Given the description of an element on the screen output the (x, y) to click on. 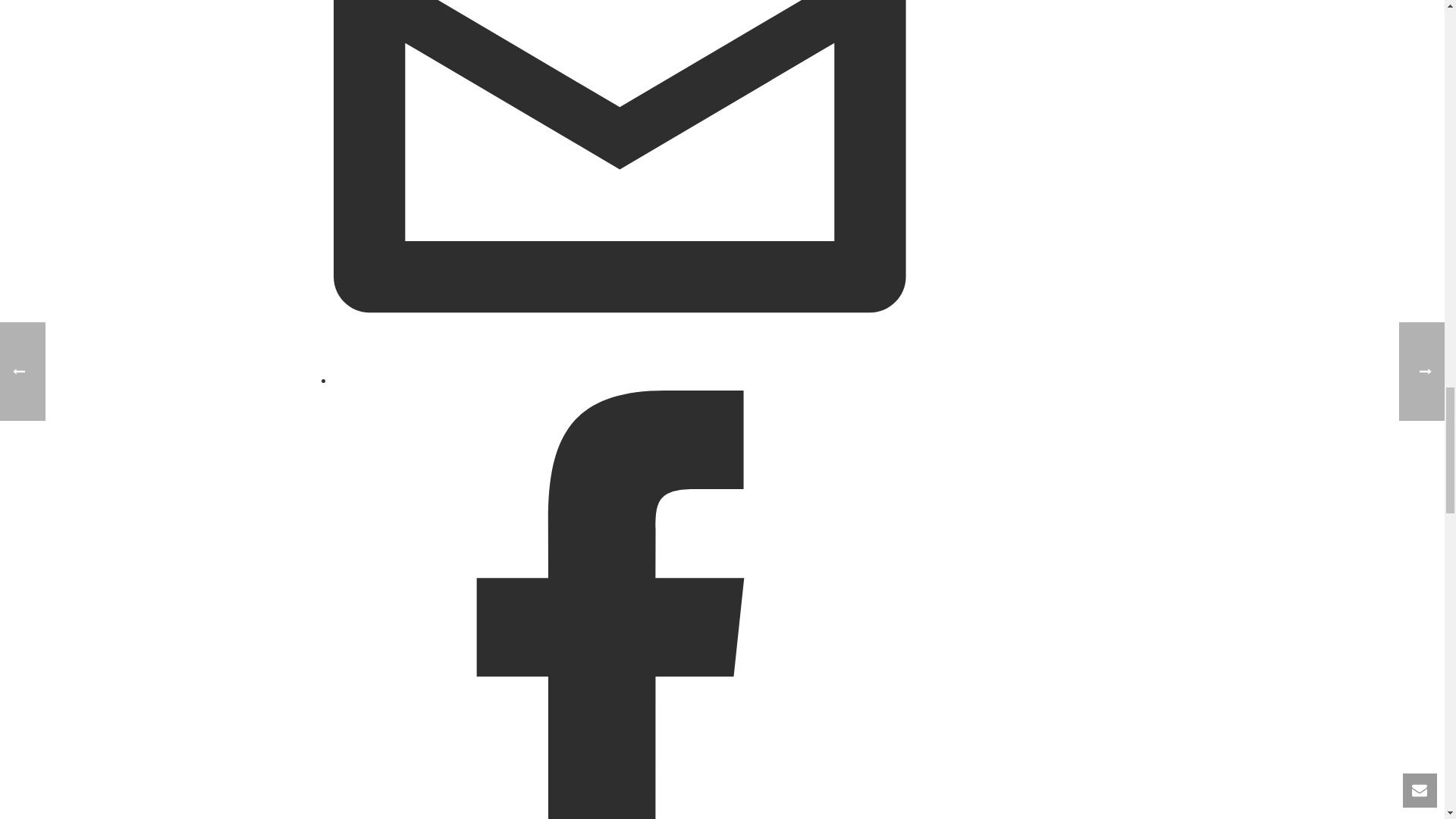
Get in touch with me via email (619, 379)
